Given the description of an element on the screen output the (x, y) to click on. 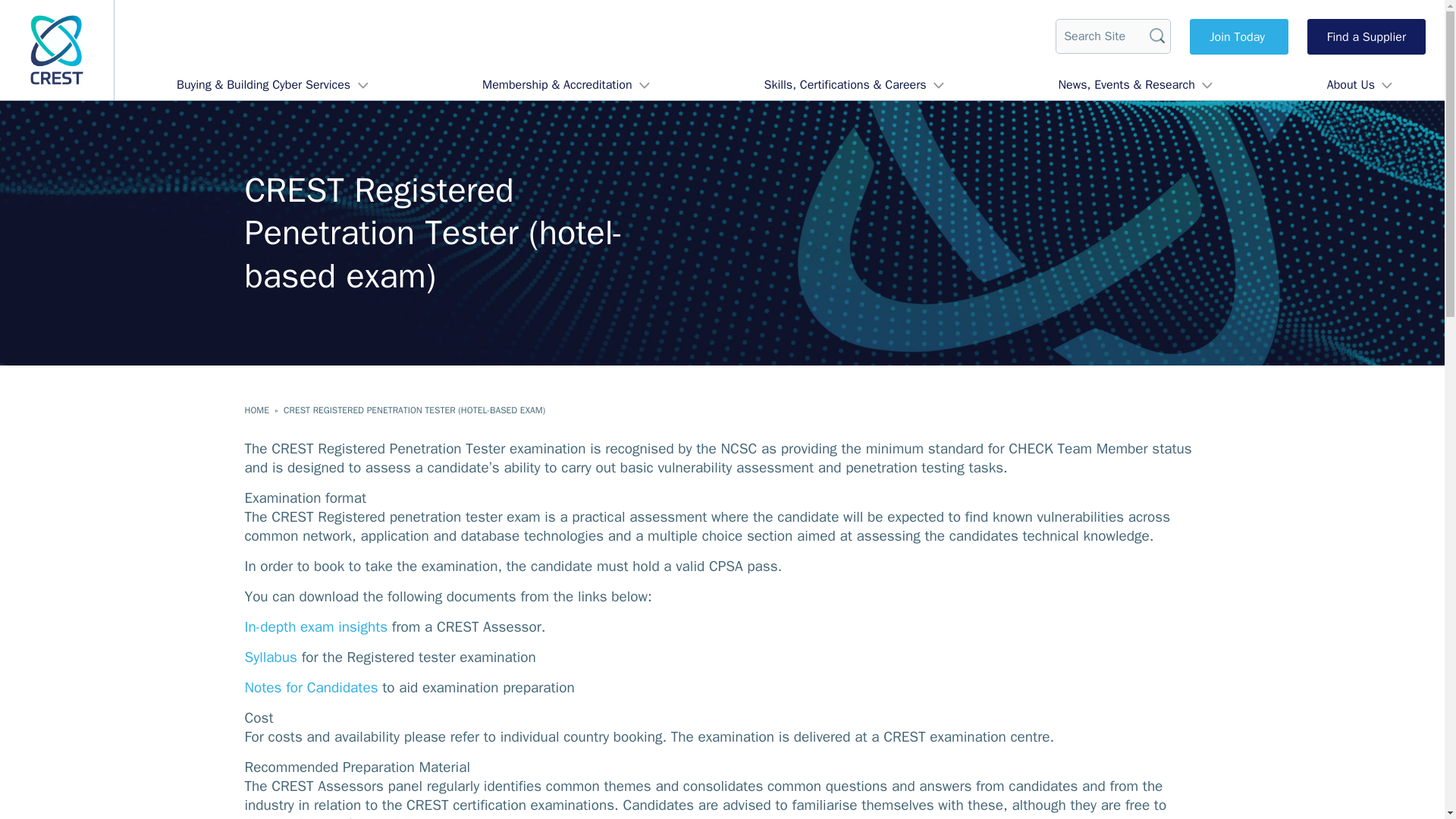
Find a Supplier (1366, 36)
Join Today (1238, 36)
